Given the description of an element on the screen output the (x, y) to click on. 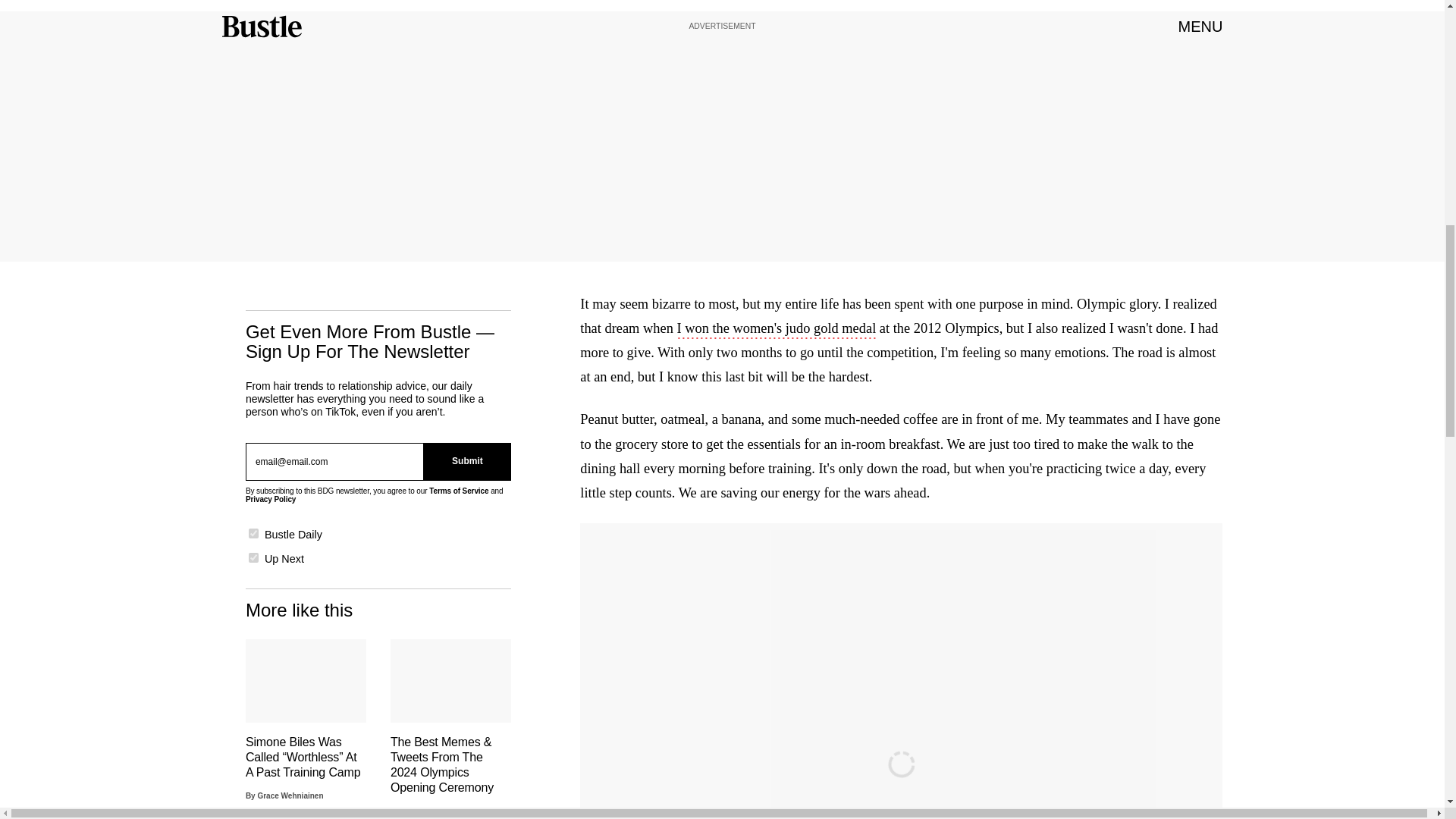
Terms of Service (458, 488)
I won the women's judo gold medal (776, 330)
Submit (467, 458)
Privacy Policy (270, 497)
